Given the description of an element on the screen output the (x, y) to click on. 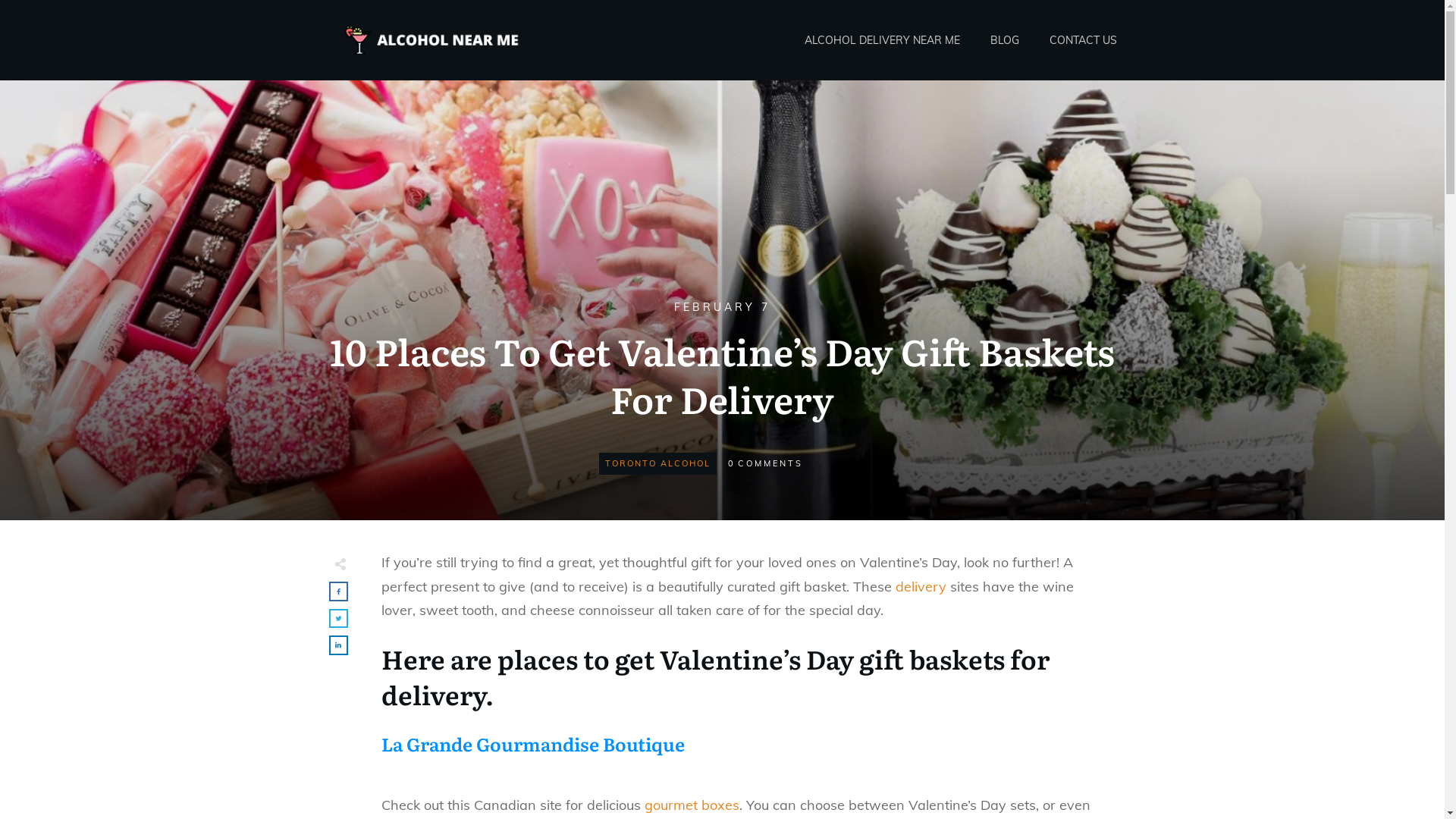
La Grande Gourmandise Boutique Element type: text (532, 743)
TORONTO ALCOHOL Element type: text (657, 463)
CONTACT US Element type: text (1083, 39)
delivery Element type: text (919, 586)
BLOG Element type: text (1004, 39)
gourmet boxes Element type: text (691, 804)
ALCOHOL DELIVERY NEAR ME Element type: text (881, 39)
